Given the description of an element on the screen output the (x, y) to click on. 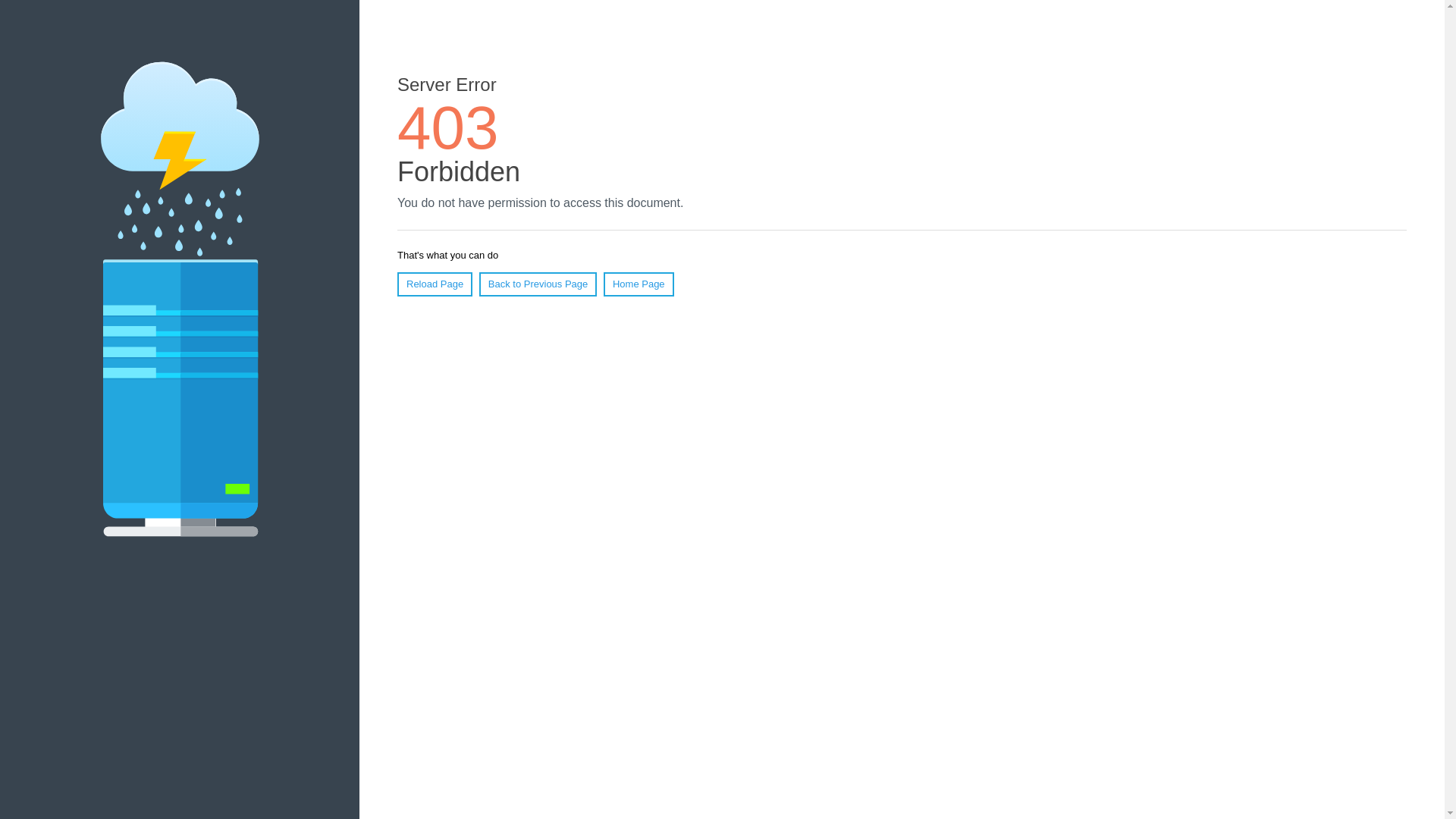
Back to Previous Page (537, 283)
Reload Page (434, 283)
Home Page (639, 283)
